Given the description of an element on the screen output the (x, y) to click on. 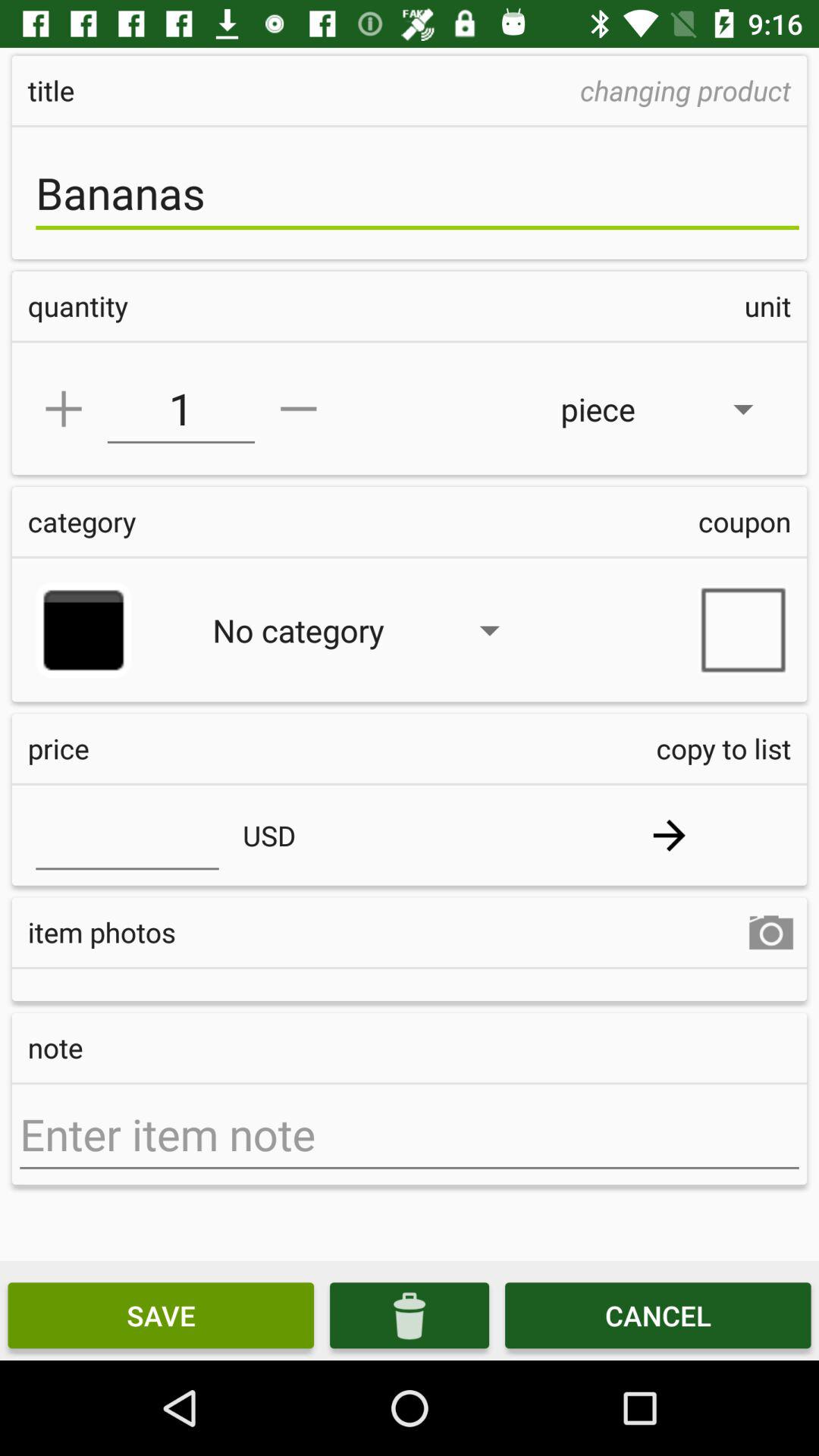
jump to the 1 item (180, 408)
